Given the description of an element on the screen output the (x, y) to click on. 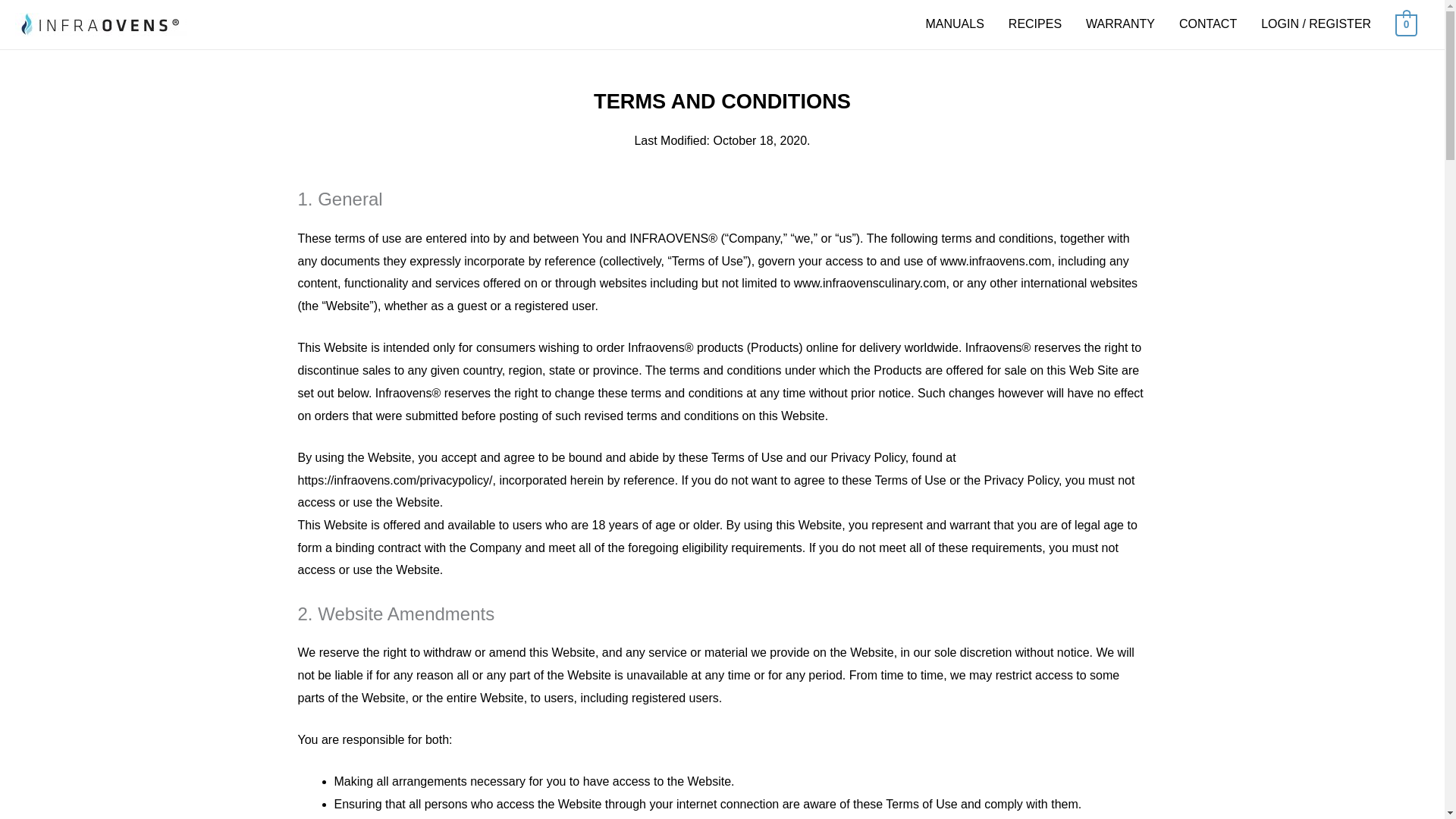
RECIPES (1034, 24)
MANUALS (953, 24)
CONTACT (1208, 24)
WARRANTY (1120, 24)
